Given the description of an element on the screen output the (x, y) to click on. 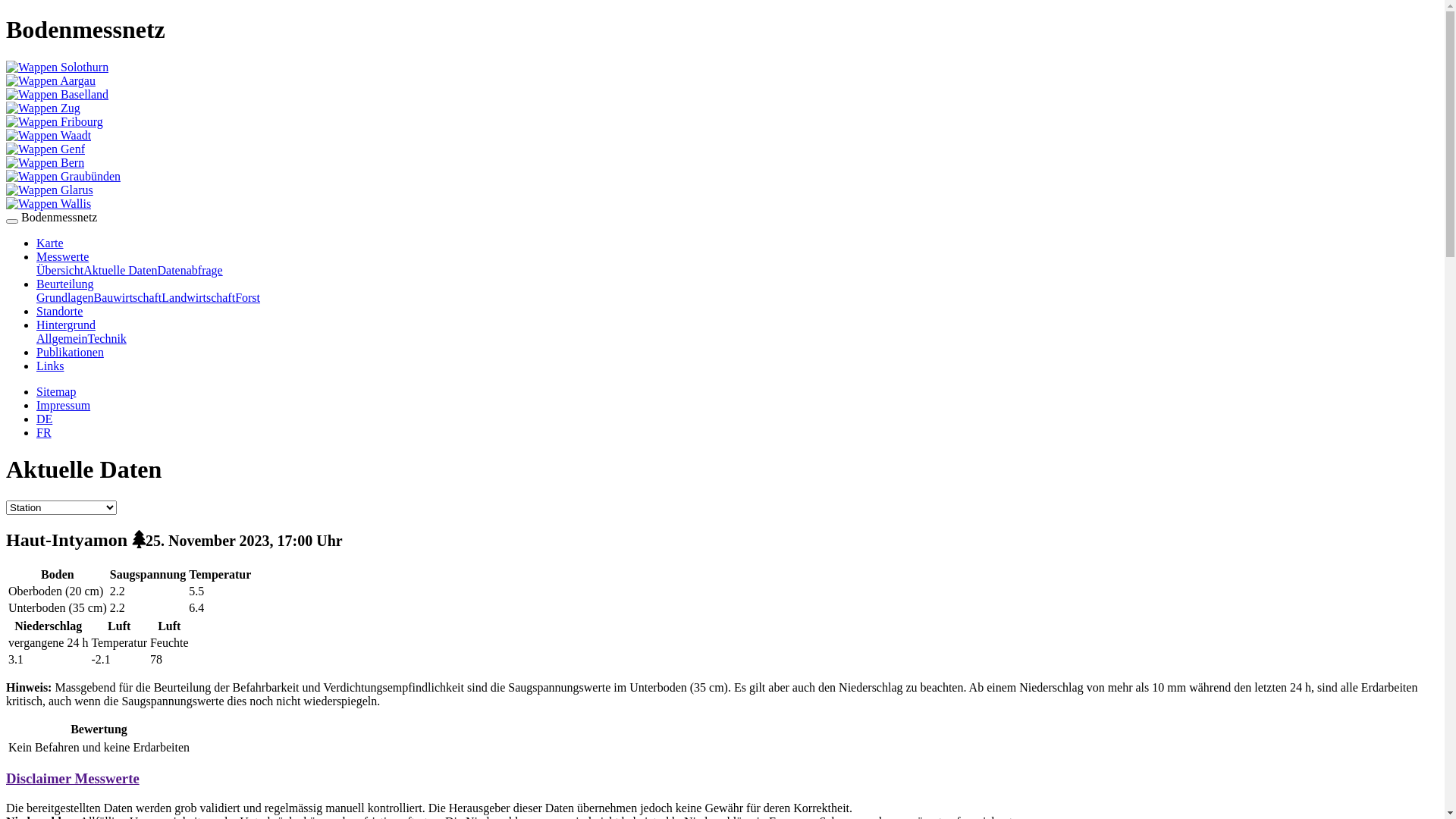
Allgemein Element type: text (61, 338)
Hintergrund Element type: text (65, 324)
Kanton Wallis Element type: hover (48, 203)
Messwerte Element type: text (62, 256)
Kanton Solothurn Element type: hover (57, 66)
Kanton Glarus Element type: hover (49, 189)
Beurteilung Element type: text (65, 283)
Kanton Aargau Element type: hover (50, 80)
DE Element type: text (44, 418)
Karte Element type: text (49, 242)
Publikationen Element type: text (69, 351)
Kanton Genf Element type: hover (45, 148)
Sitemap Element type: text (55, 391)
Kanton Fribourg Element type: hover (54, 121)
Landwirtschaft Element type: text (198, 297)
FR Element type: text (43, 432)
Impressum Element type: text (63, 404)
Bauwirtschaft Element type: text (128, 297)
Kanton Bern Element type: hover (45, 162)
Aktuelle Daten Element type: text (119, 269)
Links Element type: text (49, 365)
Kanton Waadt Element type: hover (48, 134)
Forst Element type: text (247, 297)
Disclaimer Messwerte Element type: text (72, 778)
Datenabfrage Element type: text (189, 269)
Standorte Element type: text (59, 310)
Grundlagen Element type: text (65, 297)
Kanton Zug Element type: hover (43, 107)
Technik Element type: text (106, 338)
Kanton Baselland Element type: hover (57, 93)
